Given the description of an element on the screen output the (x, y) to click on. 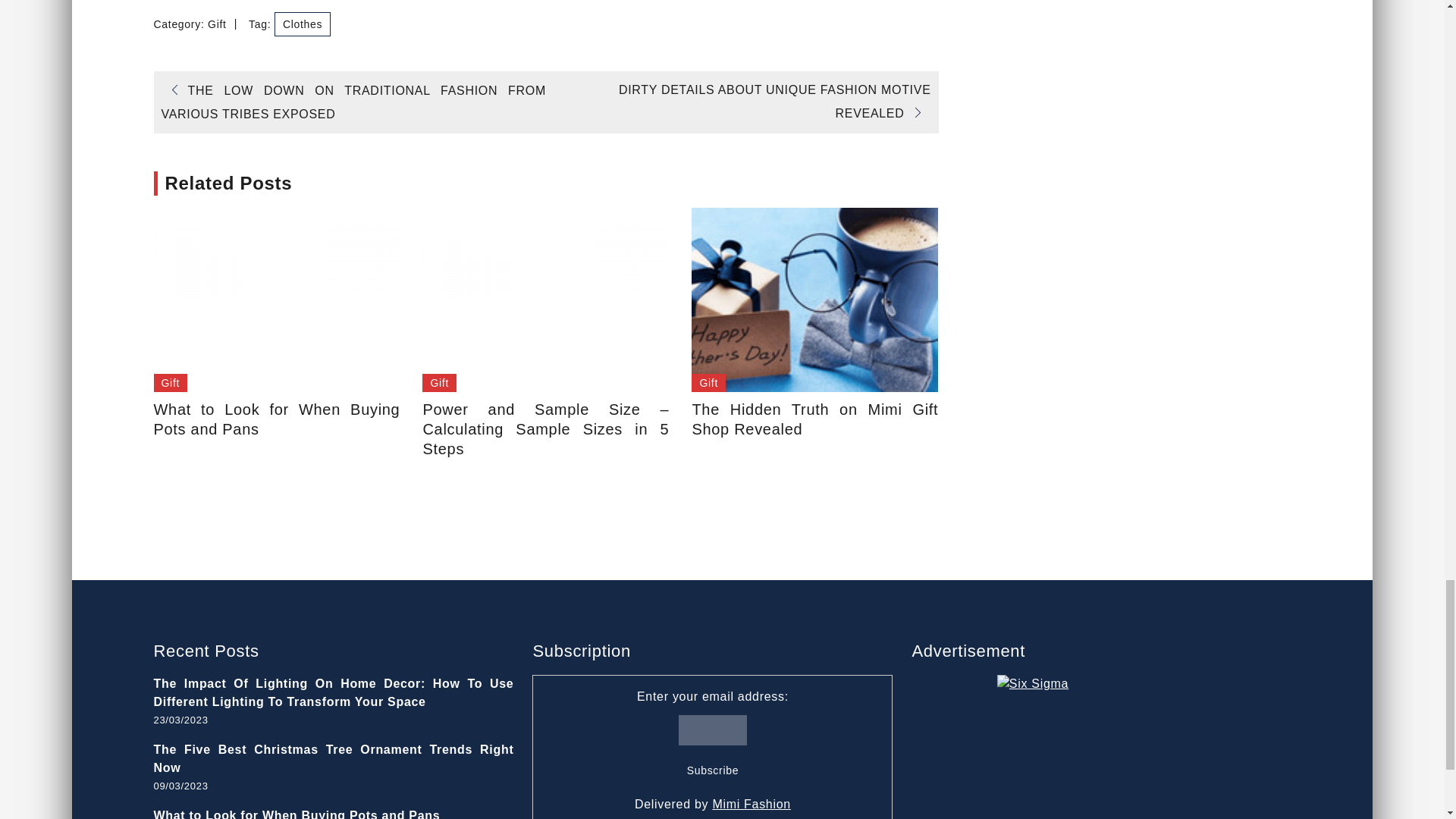
Power and Sample Size - Calculating Sample Sizes in 5 Steps (545, 300)
Gift (439, 383)
The Hidden Truth on Mimi Gift Shop Revealed (814, 300)
The Hidden Truth on Mimi Gift Shop Revealed (814, 418)
DIRTY DETAILS ABOUT UNIQUE FASHION MOTIVE REVEALED (774, 100)
What to Look for When Buying Pots and Pans (275, 300)
What to Look for When Buying Pots and Pans (275, 418)
Gift (708, 383)
Gift (217, 24)
Clothes (302, 24)
Six Sigma (1091, 746)
Gift (169, 383)
Subscribe (713, 770)
